Given the description of an element on the screen output the (x, y) to click on. 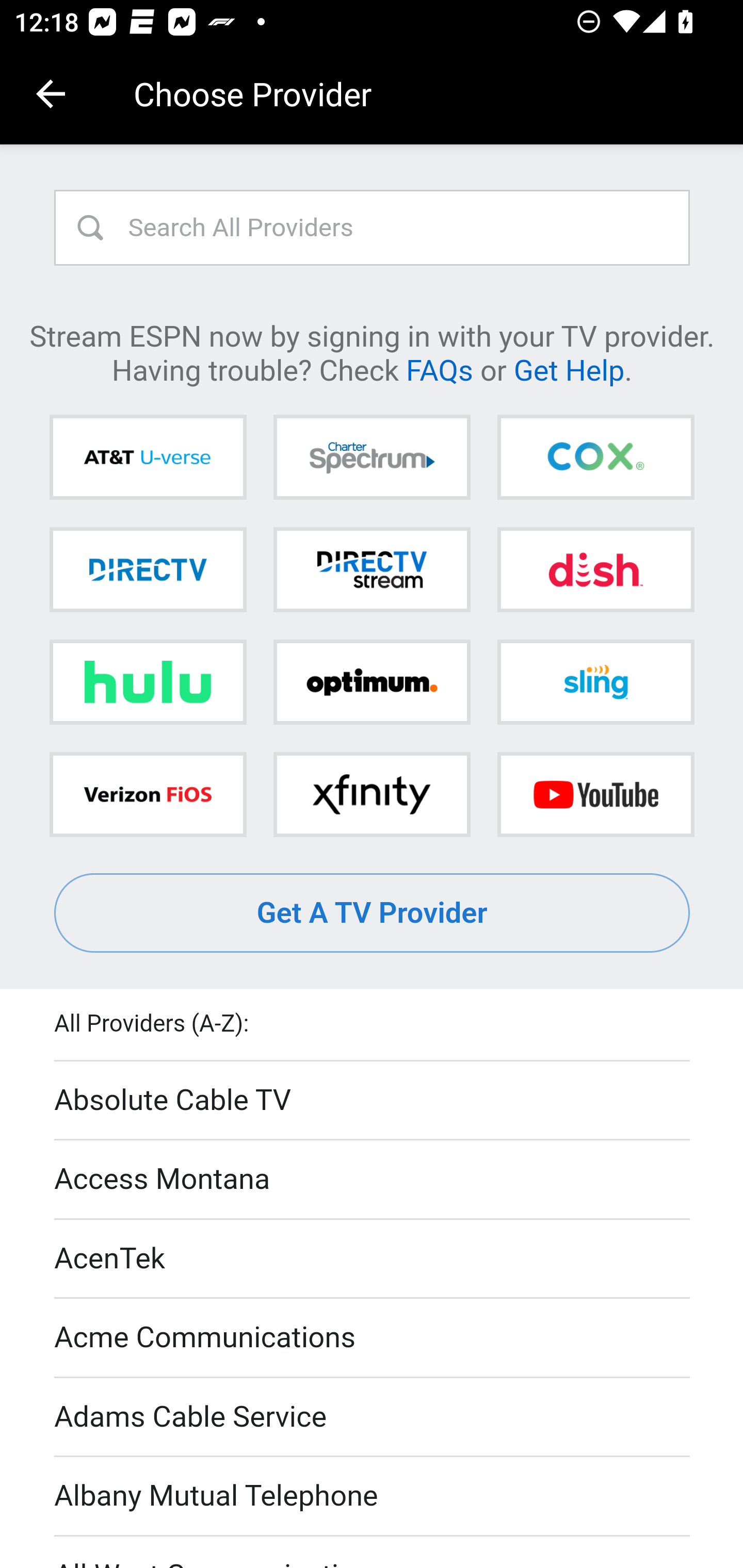
Navigate up (50, 93)
FAQs (438, 369)
Get Help (569, 369)
AT&T U-verse (147, 457)
Charter Spectrum (371, 457)
Cox (595, 457)
DIRECTV (147, 568)
DIRECTV STREAM (371, 568)
DISH (595, 568)
Hulu (147, 681)
Optimum (371, 681)
Sling TV (595, 681)
Verizon FiOS (147, 793)
Xfinity (371, 793)
YouTube TV (595, 793)
Get A TV Provider (372, 912)
Absolute Cable TV (372, 1100)
Access Montana (372, 1178)
AcenTek (372, 1258)
Acme Communications (372, 1338)
Adams Cable Service (372, 1417)
Albany Mutual Telephone (372, 1497)
